Given the description of an element on the screen output the (x, y) to click on. 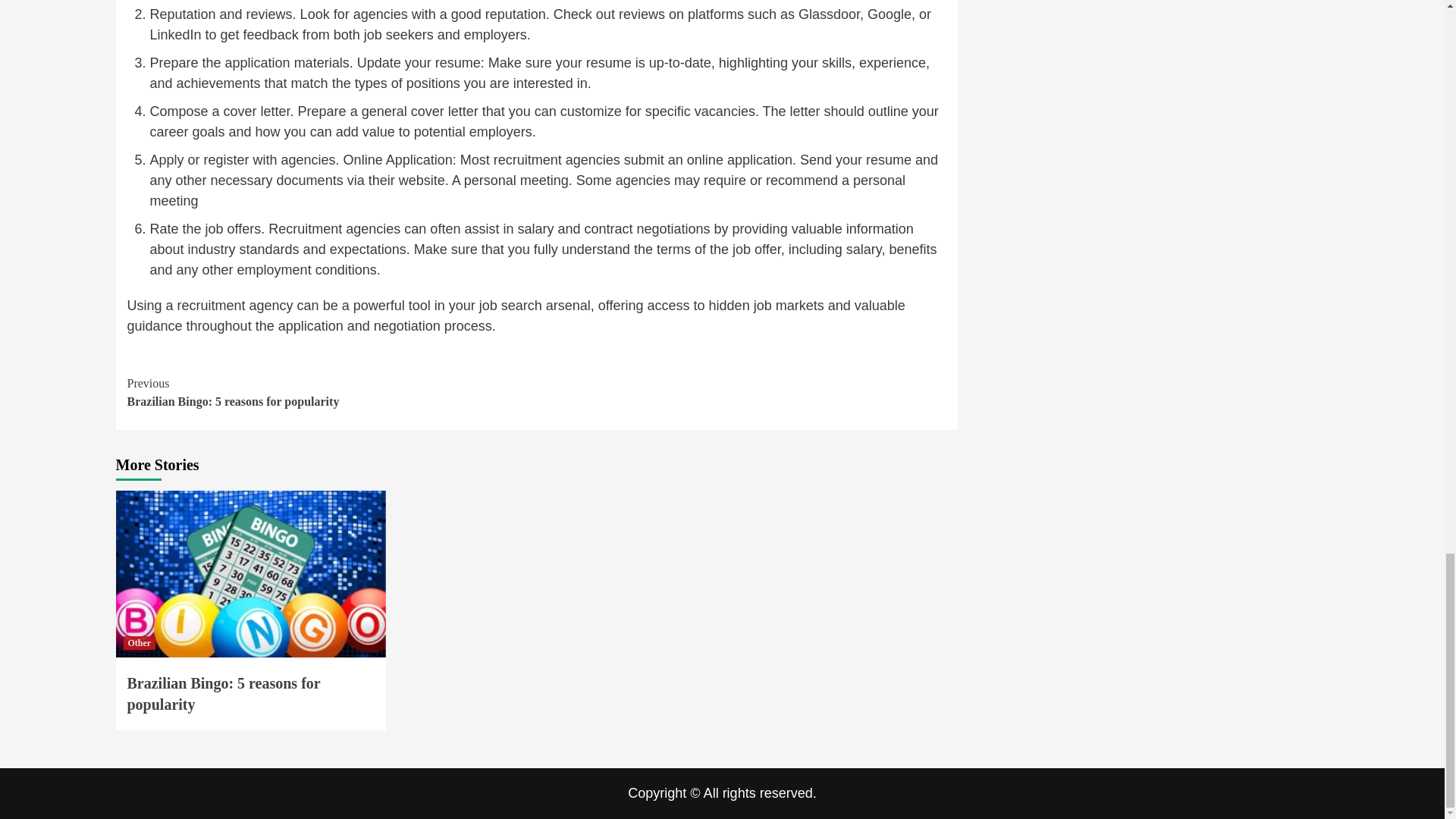
Other (332, 392)
Brazilian Bingo: 5 reasons for popularity (138, 643)
